Given the description of an element on the screen output the (x, y) to click on. 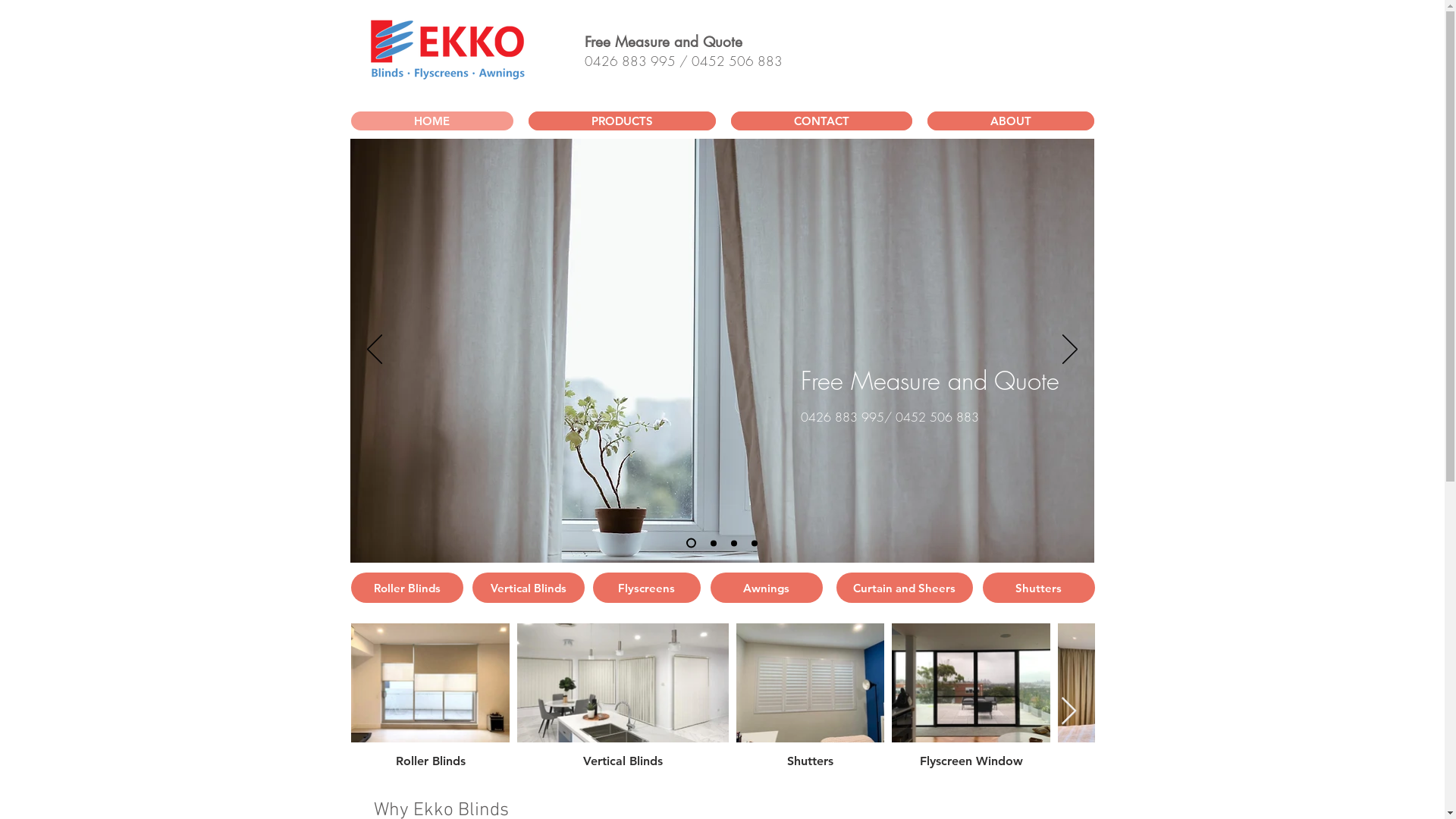
ABOUT Element type: text (1009, 120)
CONTACT Element type: text (821, 120)
0426 883 995 Element type: text (628, 60)
0452 506 883 Element type: text (736, 60)
Curtain and Sheers Element type: text (903, 587)
Vertical Blinds Element type: text (527, 587)
Shutters Element type: text (1038, 587)
PRODUCTS Element type: text (621, 120)
Roller Blinds Element type: text (406, 587)
Awnings Element type: text (765, 587)
Flyscreens Element type: text (646, 587)
HOME Element type: text (431, 120)
